Given the description of an element on the screen output the (x, y) to click on. 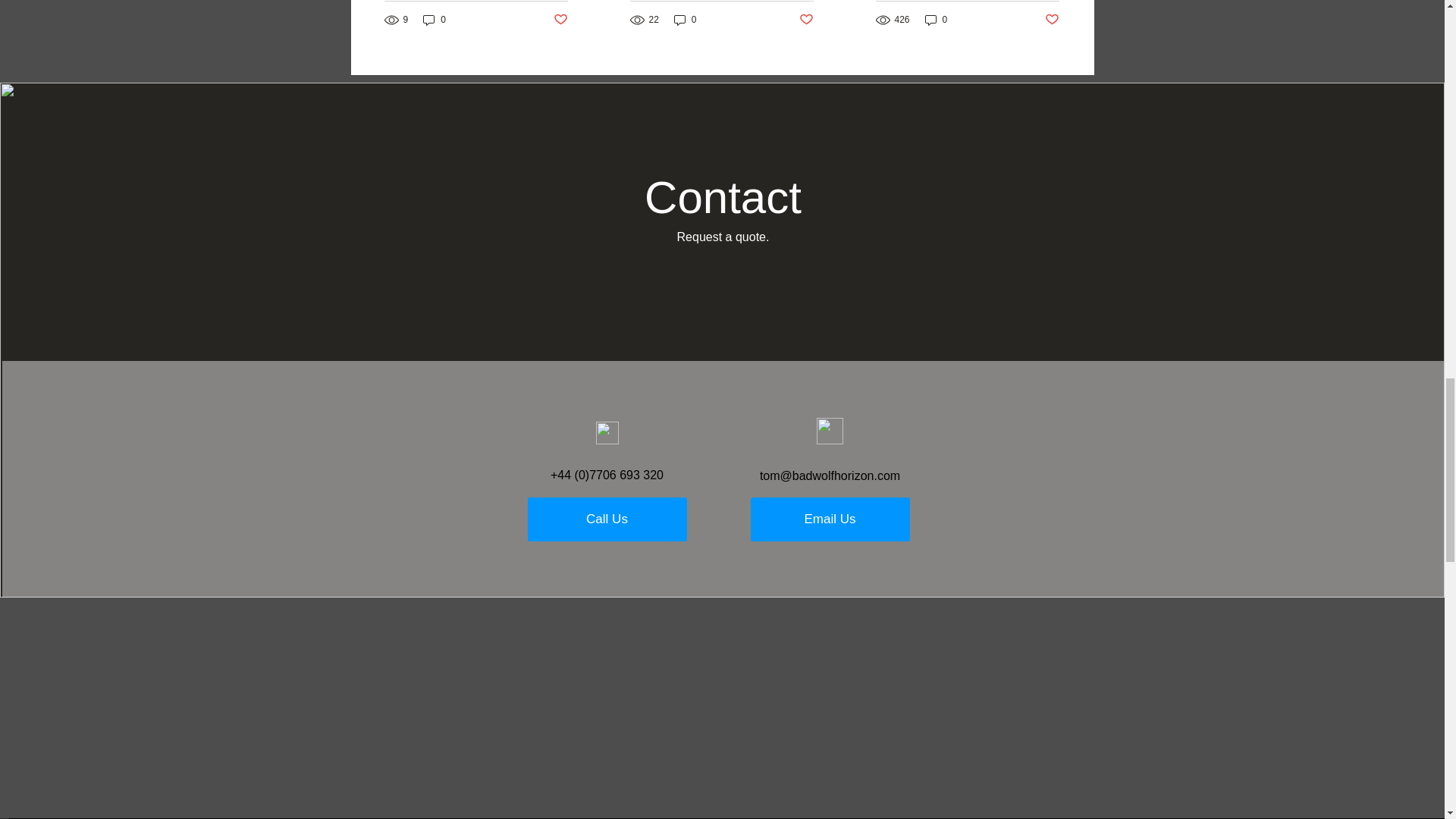
Post not marked as liked (1052, 19)
0 (434, 20)
0 (685, 20)
Call Us (607, 519)
0 (936, 20)
Email Us (830, 519)
Post not marked as liked (806, 19)
Post not marked as liked (560, 19)
